Given the description of an element on the screen output the (x, y) to click on. 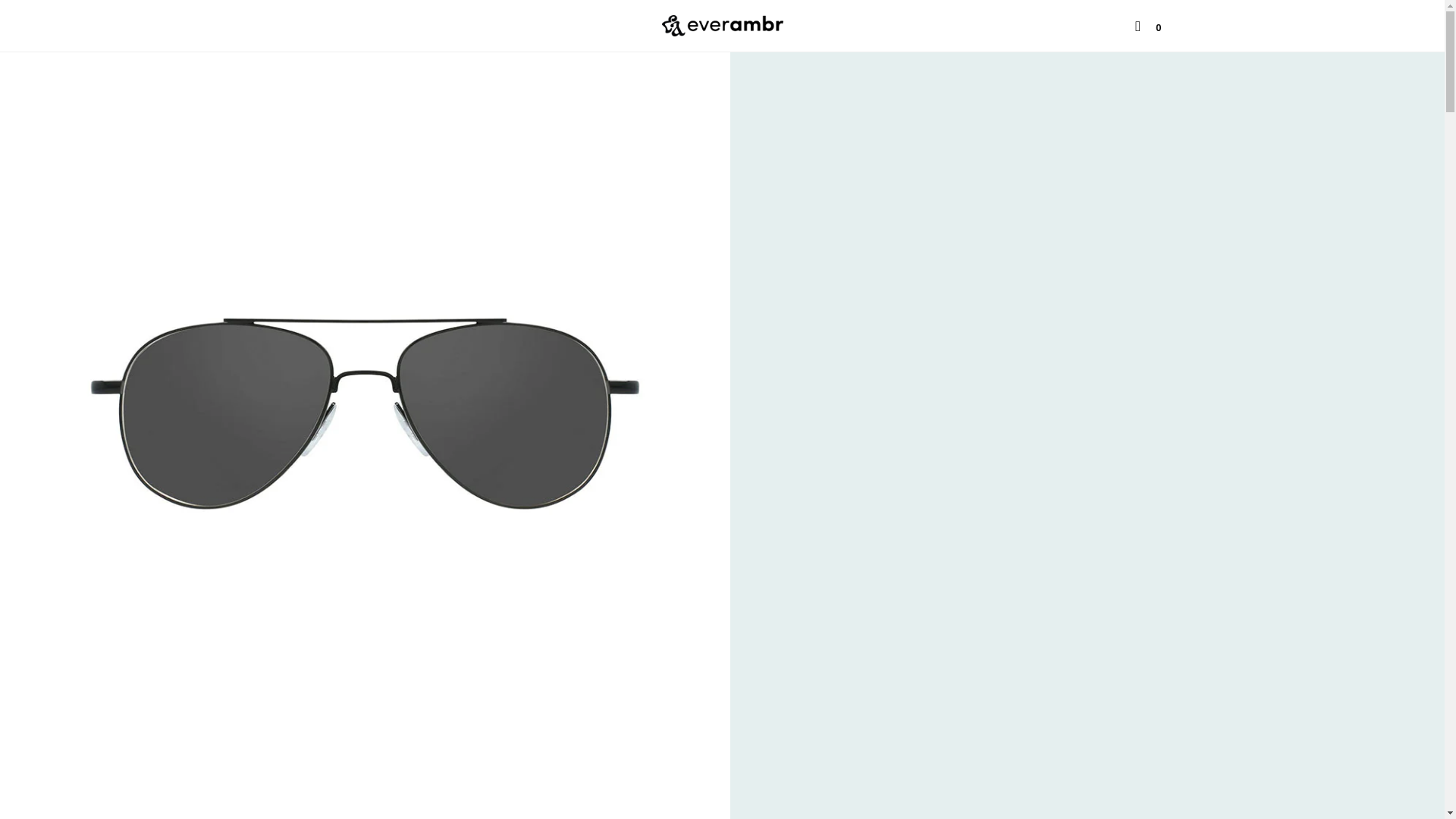
everambr (721, 25)
outlet (606, 25)
blue light glasses (515, 24)
sunglasses (409, 24)
by activity (323, 24)
reviews (909, 25)
